Given the description of an element on the screen output the (x, y) to click on. 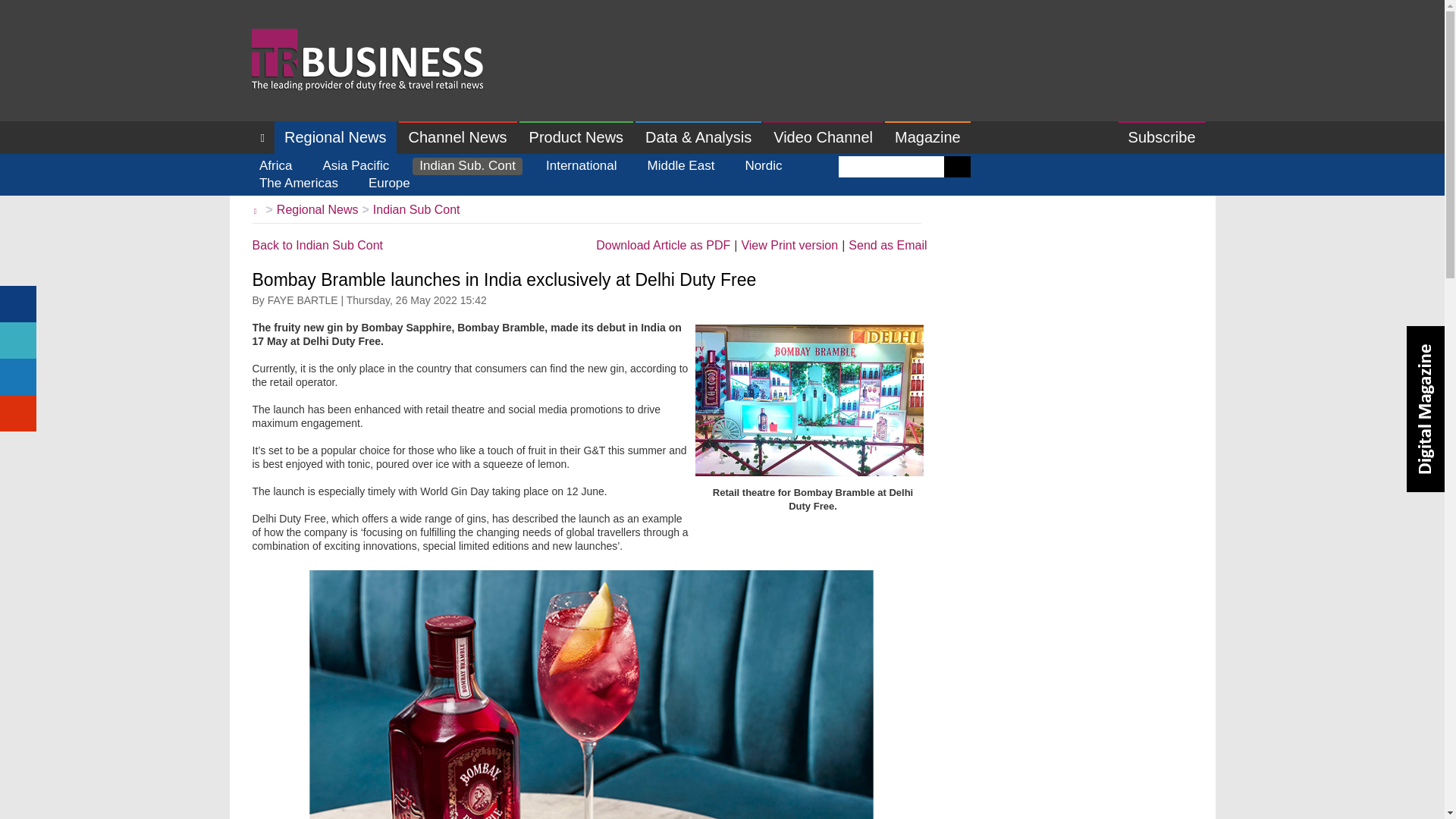
Asia Pacific (355, 166)
Europe (388, 183)
International (581, 166)
Search (957, 166)
Search (957, 166)
Print (789, 245)
Middle East (681, 166)
Regional News (335, 137)
Send as Email (887, 245)
Africa (274, 166)
Search (957, 166)
Pdf (662, 245)
Indian Sub. Cont (467, 166)
